Given the description of an element on the screen output the (x, y) to click on. 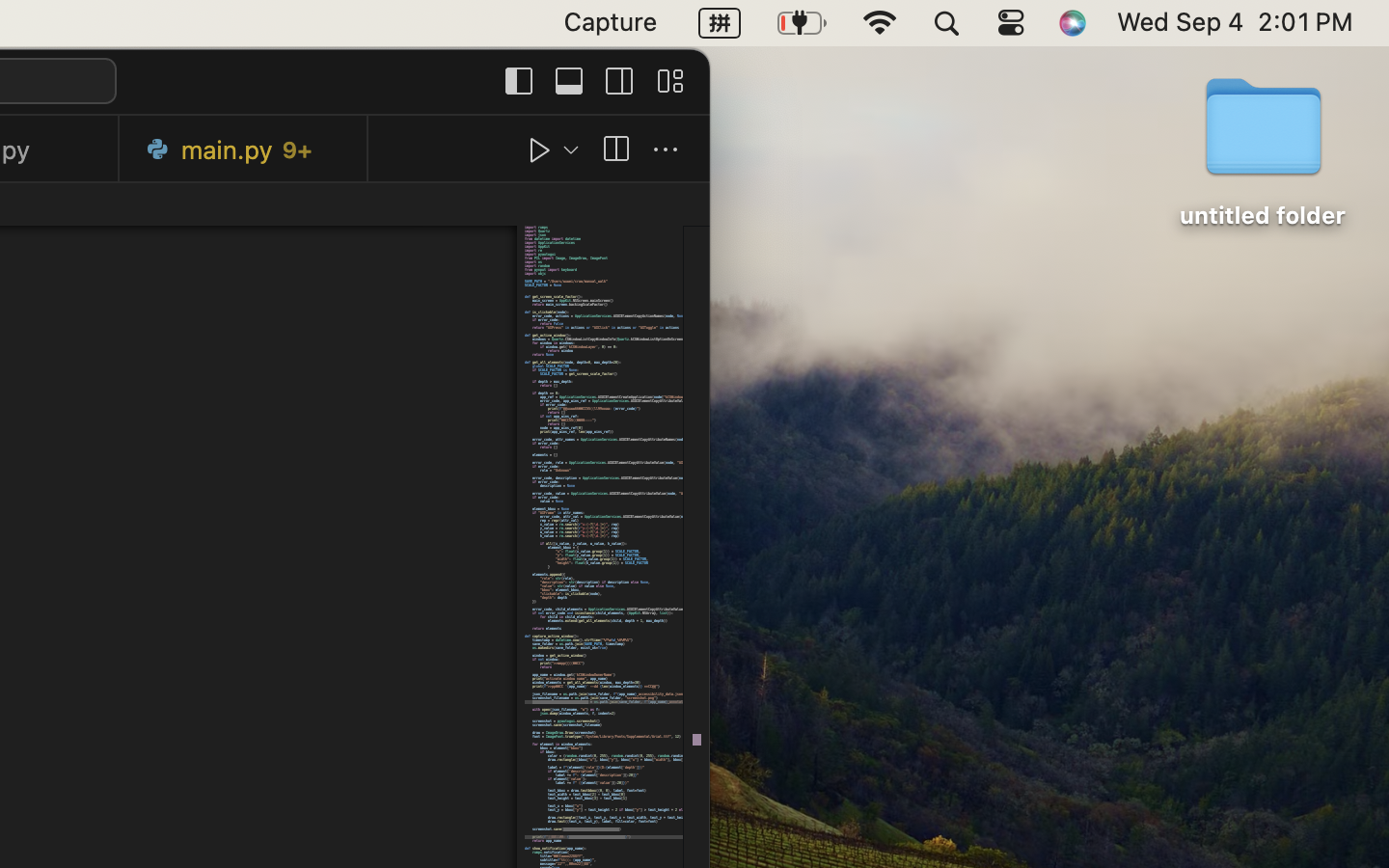
 Element type: AXGroup (539, 150)
 Element type: AXCheckBox (518, 80)
 Element type: AXStaticText (665, 150)
